Given the description of an element on the screen output the (x, y) to click on. 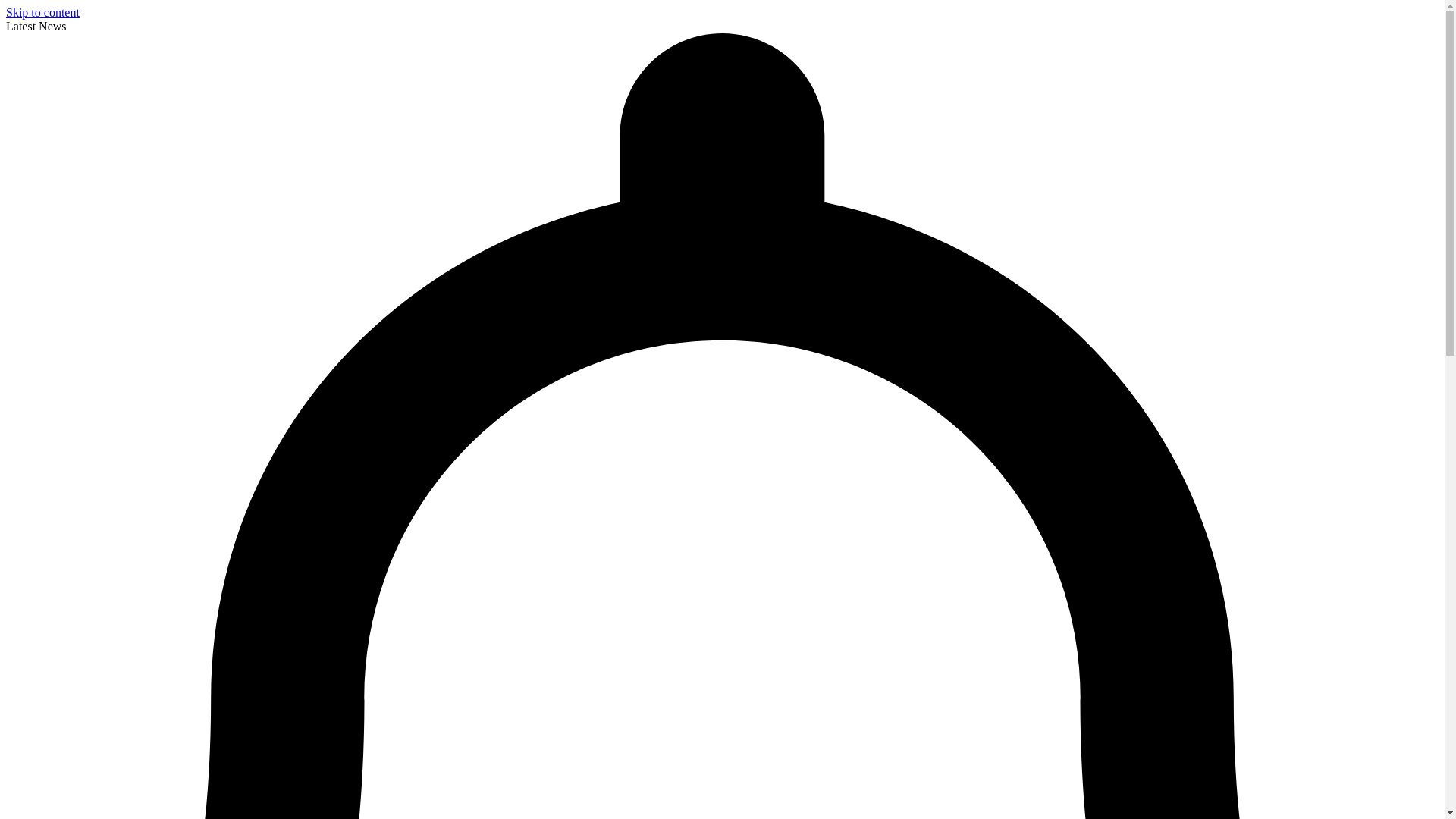
Skip to content (42, 11)
